Given the description of an element on the screen output the (x, y) to click on. 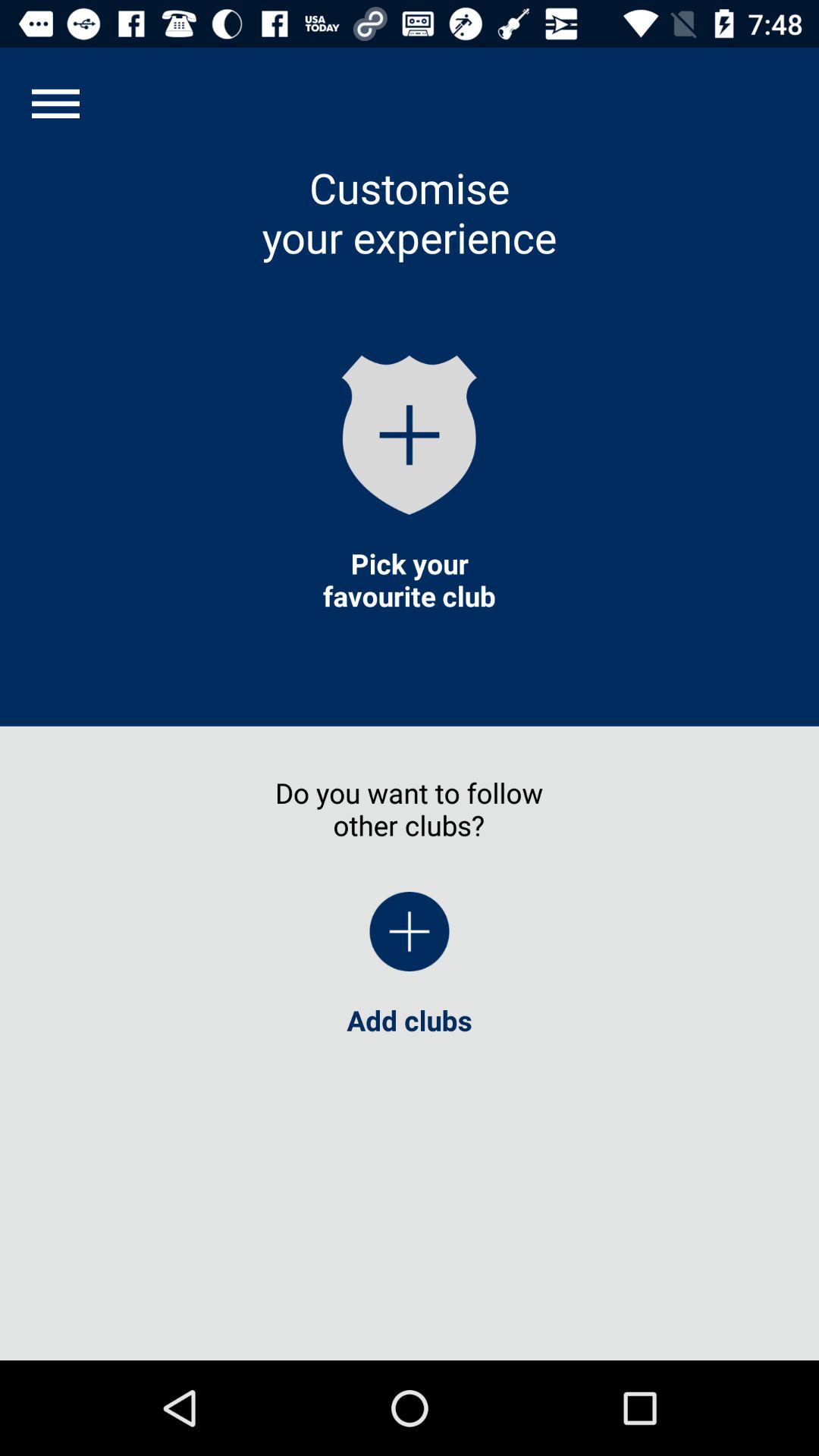
choose the icon at the top left corner (55, 103)
